Given the description of an element on the screen output the (x, y) to click on. 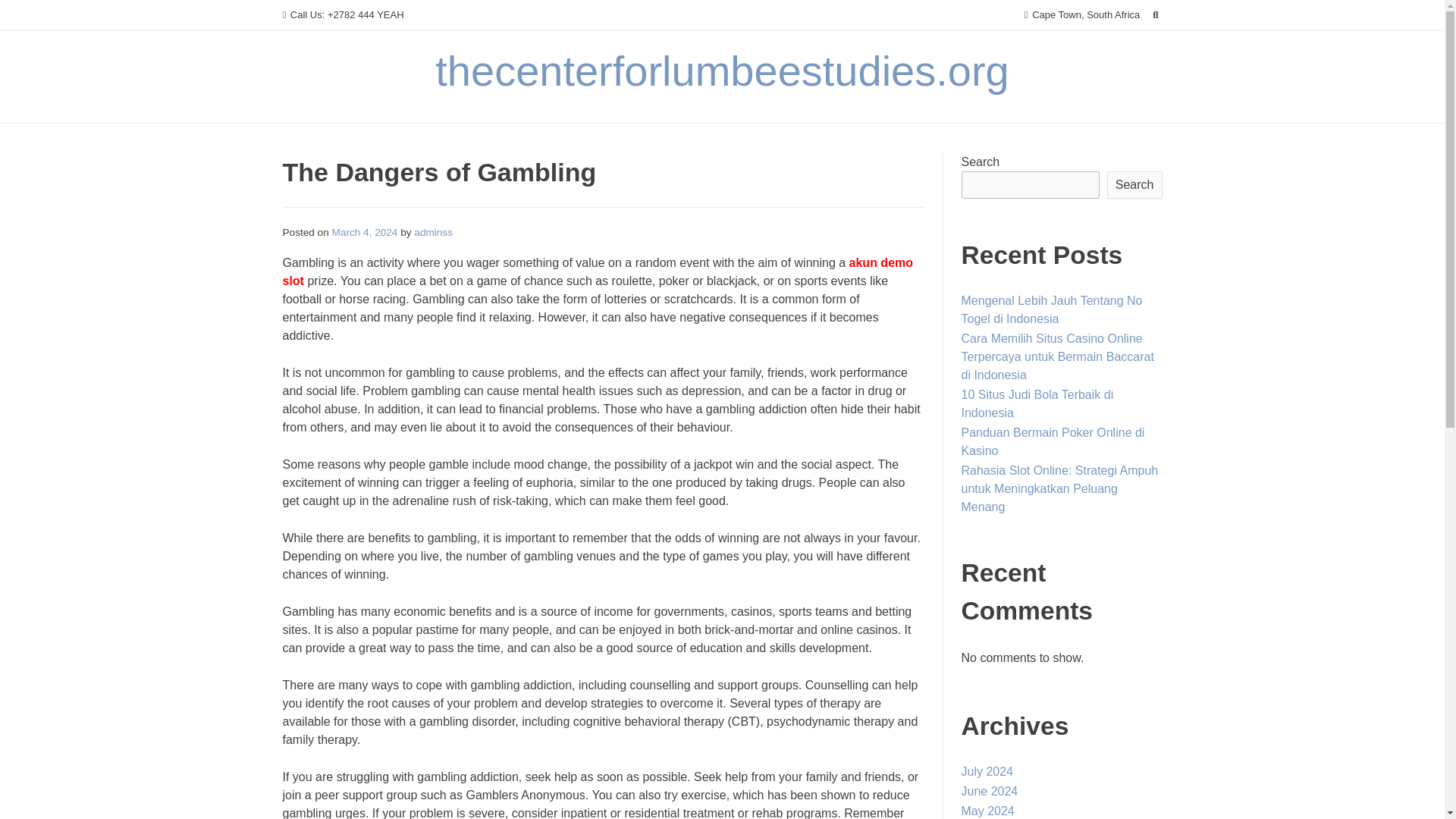
Search (1133, 185)
Panduan Bermain Poker Online di Kasino (1052, 441)
akun demo slot (597, 271)
July 2024 (986, 771)
May 2024 (987, 810)
Search (27, 13)
thecenterforlumbeestudies.org (722, 70)
June 2024 (988, 790)
March 4, 2024 (364, 232)
adminss (432, 232)
10 Situs Judi Bola Terbaik di Indonesia (1036, 403)
Mengenal Lebih Jauh Tentang No Togel di Indonesia (1051, 309)
